Given the description of an element on the screen output the (x, y) to click on. 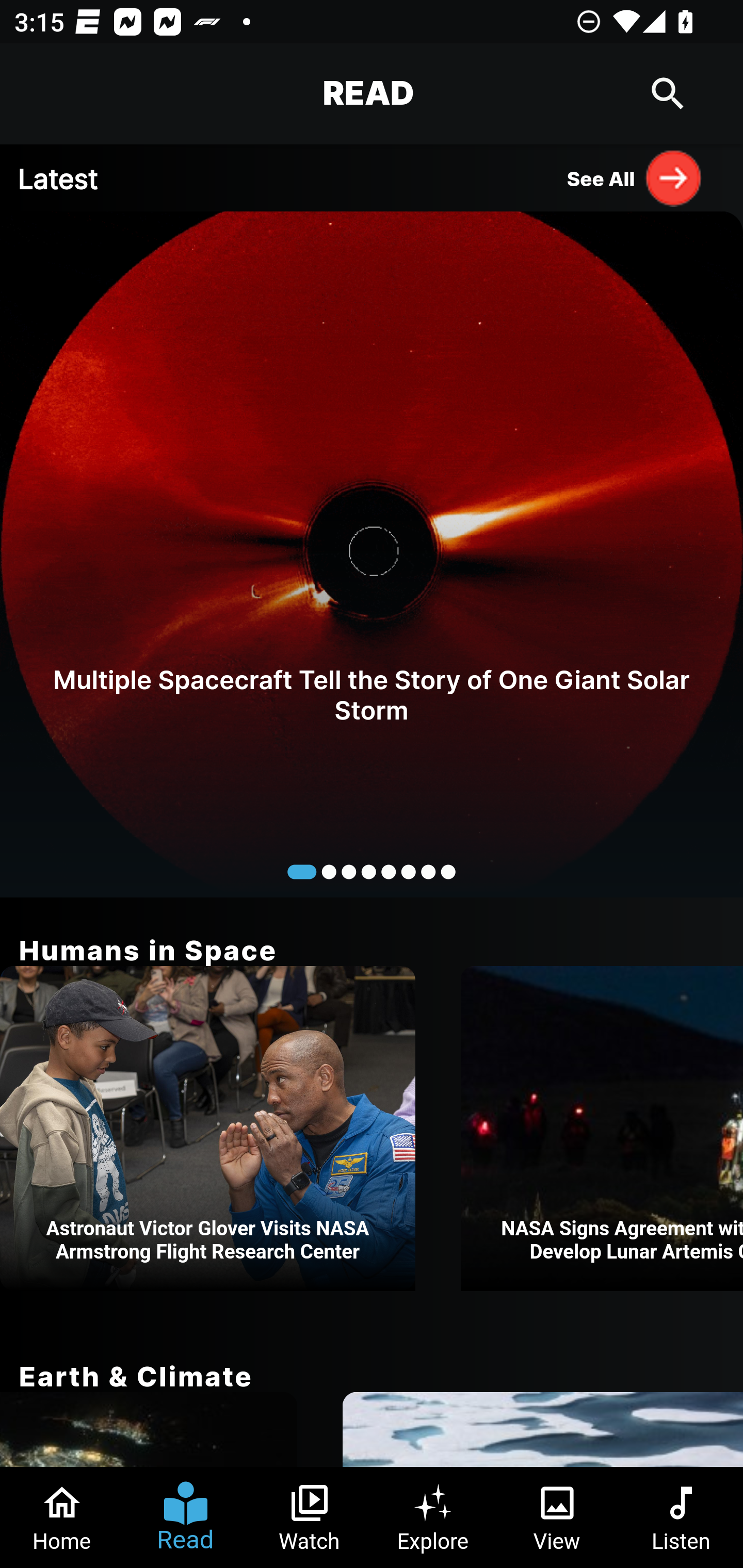
See All (634, 177)
Home
Tab 1 of 6 (62, 1517)
Read
Tab 2 of 6 (185, 1517)
Watch
Tab 3 of 6 (309, 1517)
Explore
Tab 4 of 6 (433, 1517)
View
Tab 5 of 6 (556, 1517)
Listen
Tab 6 of 6 (680, 1517)
